Given the description of an element on the screen output the (x, y) to click on. 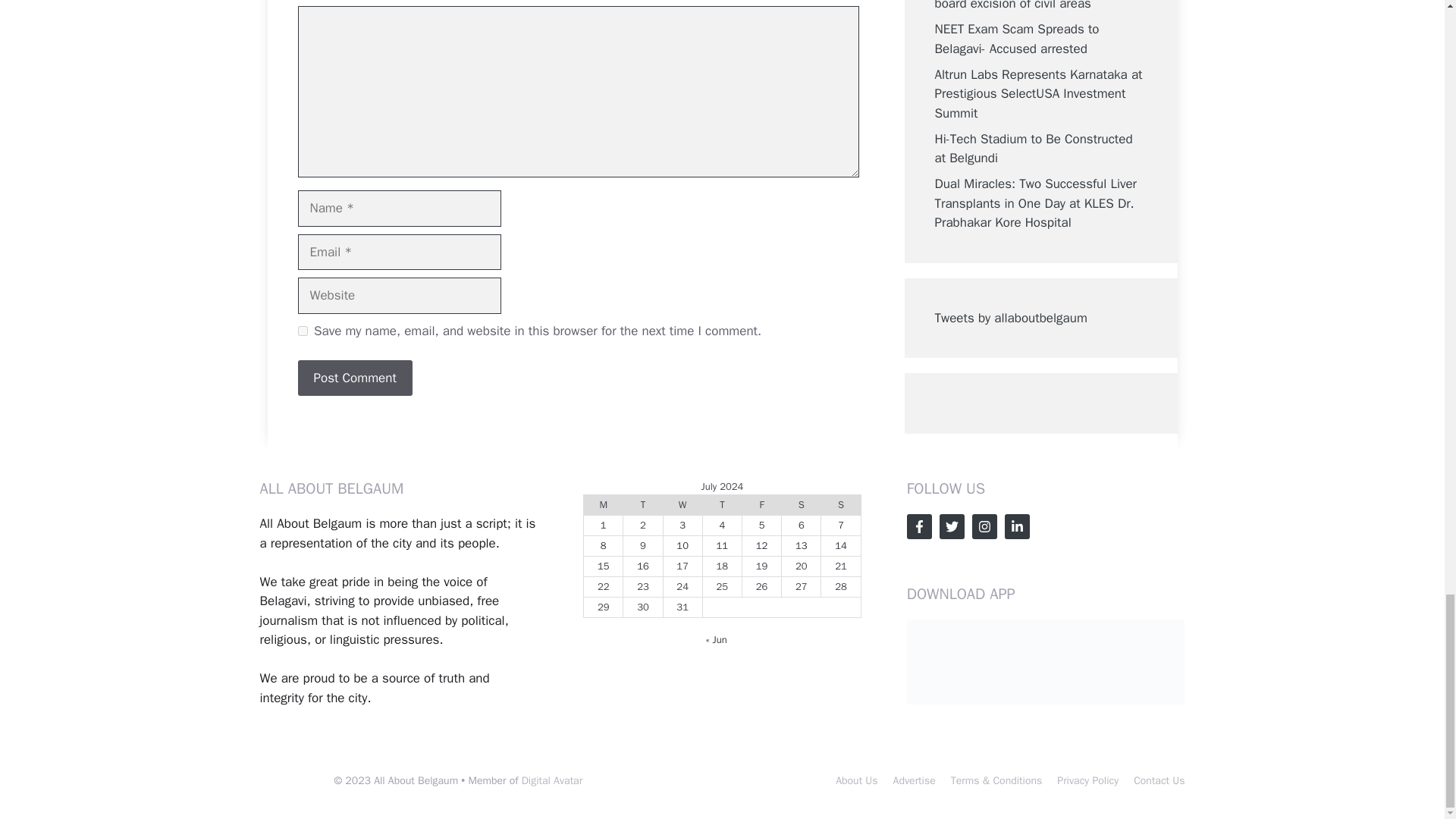
yes (302, 330)
Monday (603, 504)
5 (761, 524)
7 (841, 524)
Post Comment (354, 378)
Friday (760, 504)
6 (801, 524)
Saturday (801, 504)
8 (603, 545)
Thursday (721, 504)
3 (682, 524)
4 (722, 524)
Wednesday (681, 504)
1 (603, 524)
Post Comment (354, 378)
